Given the description of an element on the screen output the (x, y) to click on. 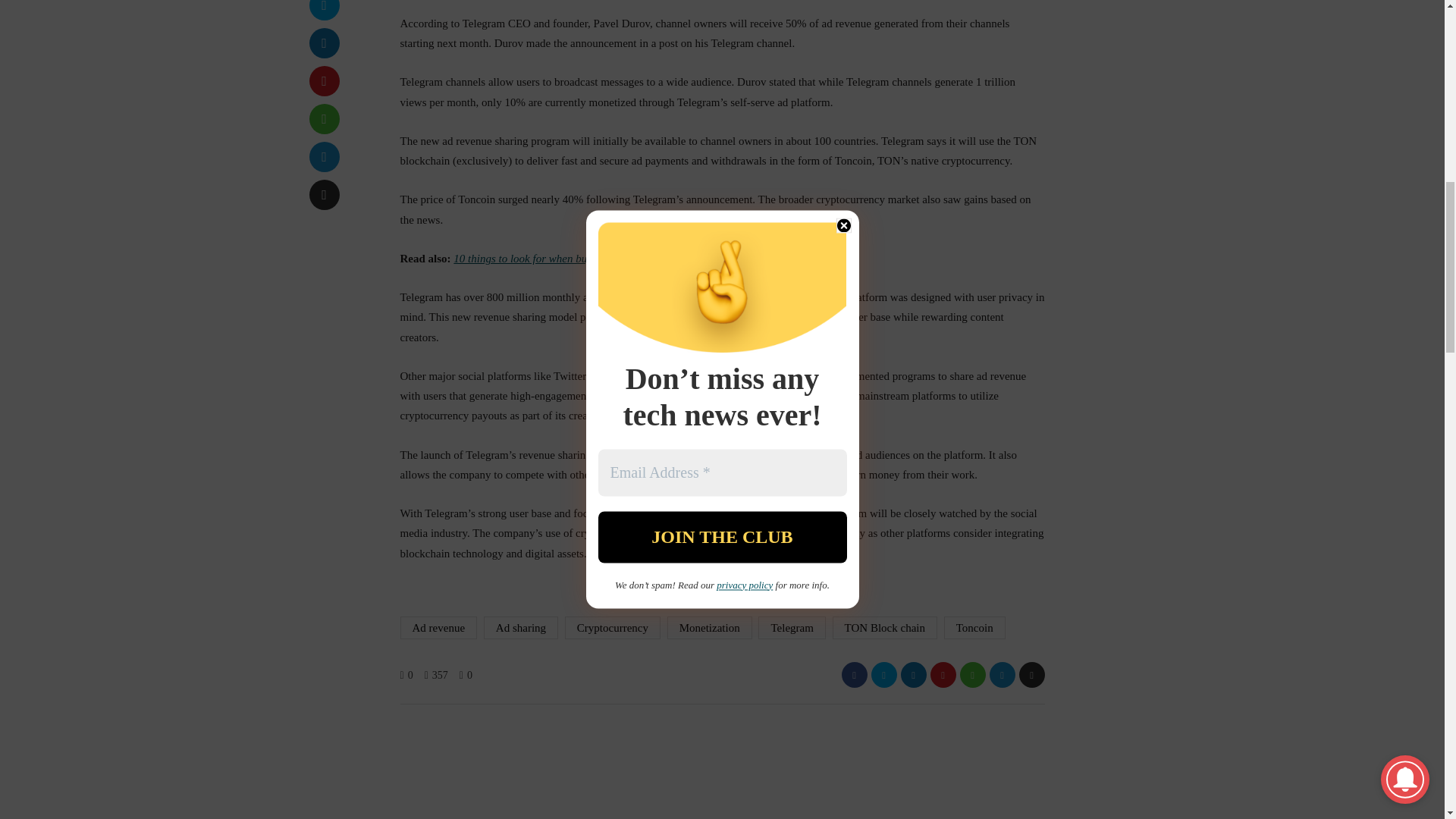
Share with LinkedIn (323, 42)
Pin this (323, 81)
Tweet this (323, 10)
Share to WhatsApp (323, 119)
